Given the description of an element on the screen output the (x, y) to click on. 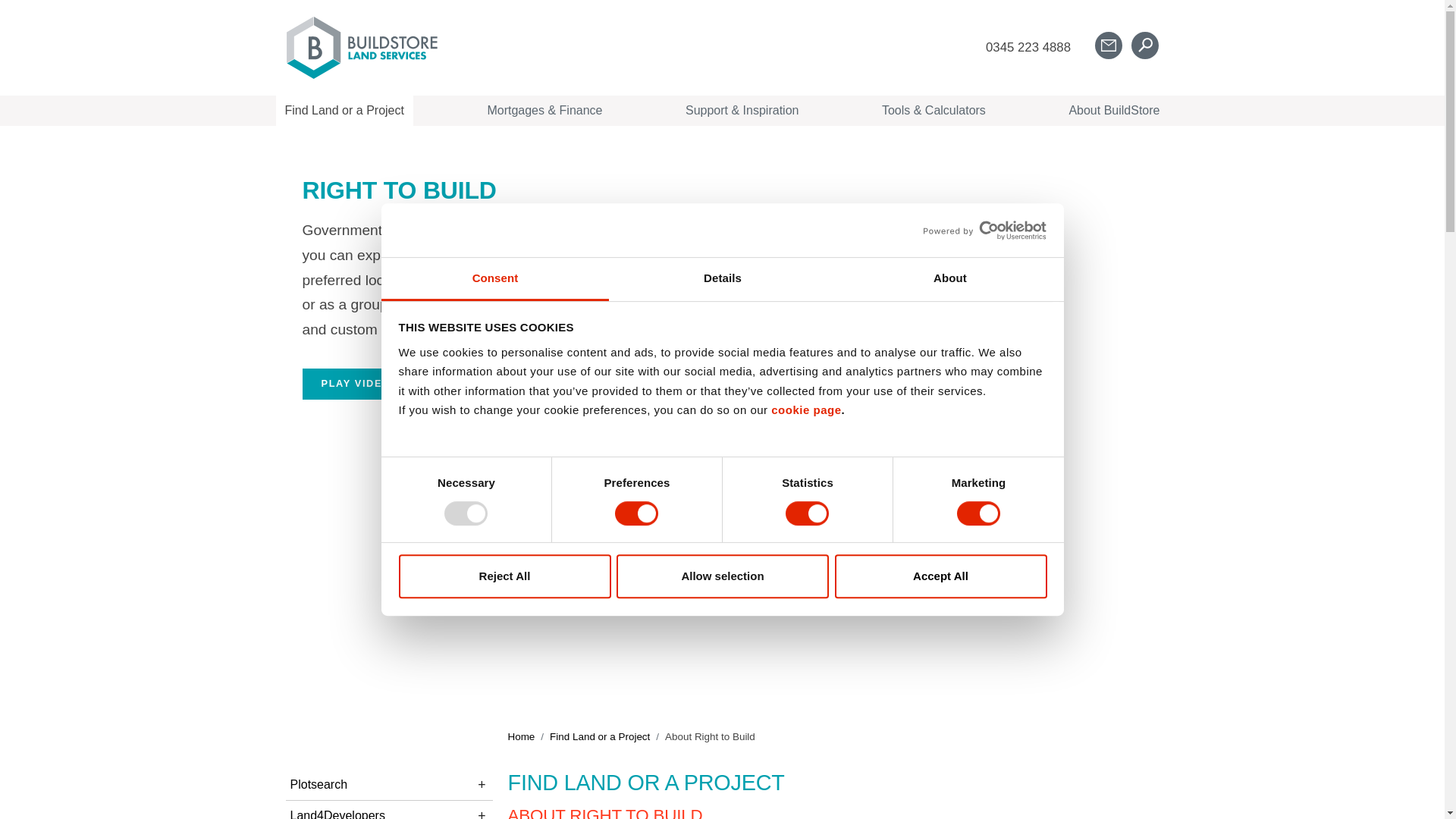
Reject All (503, 576)
Accept All (940, 576)
cookie page (806, 410)
Details (721, 279)
About (948, 279)
Consent (494, 279)
Allow selection (721, 576)
